Given the description of an element on the screen output the (x, y) to click on. 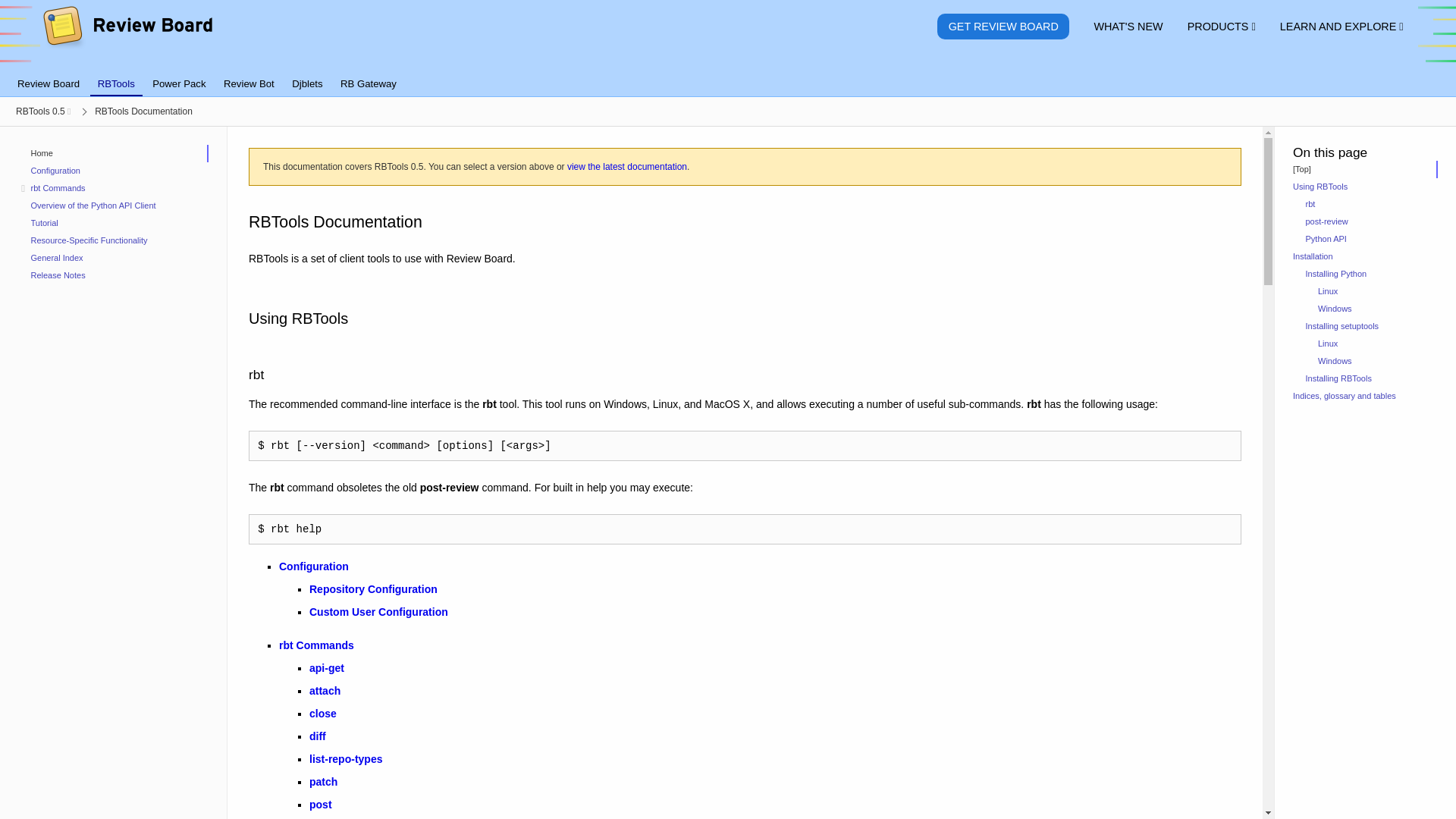
Expand menu (22, 188)
Review Board (48, 83)
Review Bot (248, 83)
LEARN AND EXPLORE (1342, 26)
GET REVIEW BOARD (1002, 26)
RB Gateway (368, 83)
RBTools (116, 83)
WHAT'S NEW (1128, 26)
Power Pack (178, 83)
PRODUCTS (1220, 26)
RBTools 0.5 (42, 111)
Djblets (306, 83)
